Given the description of an element on the screen output the (x, y) to click on. 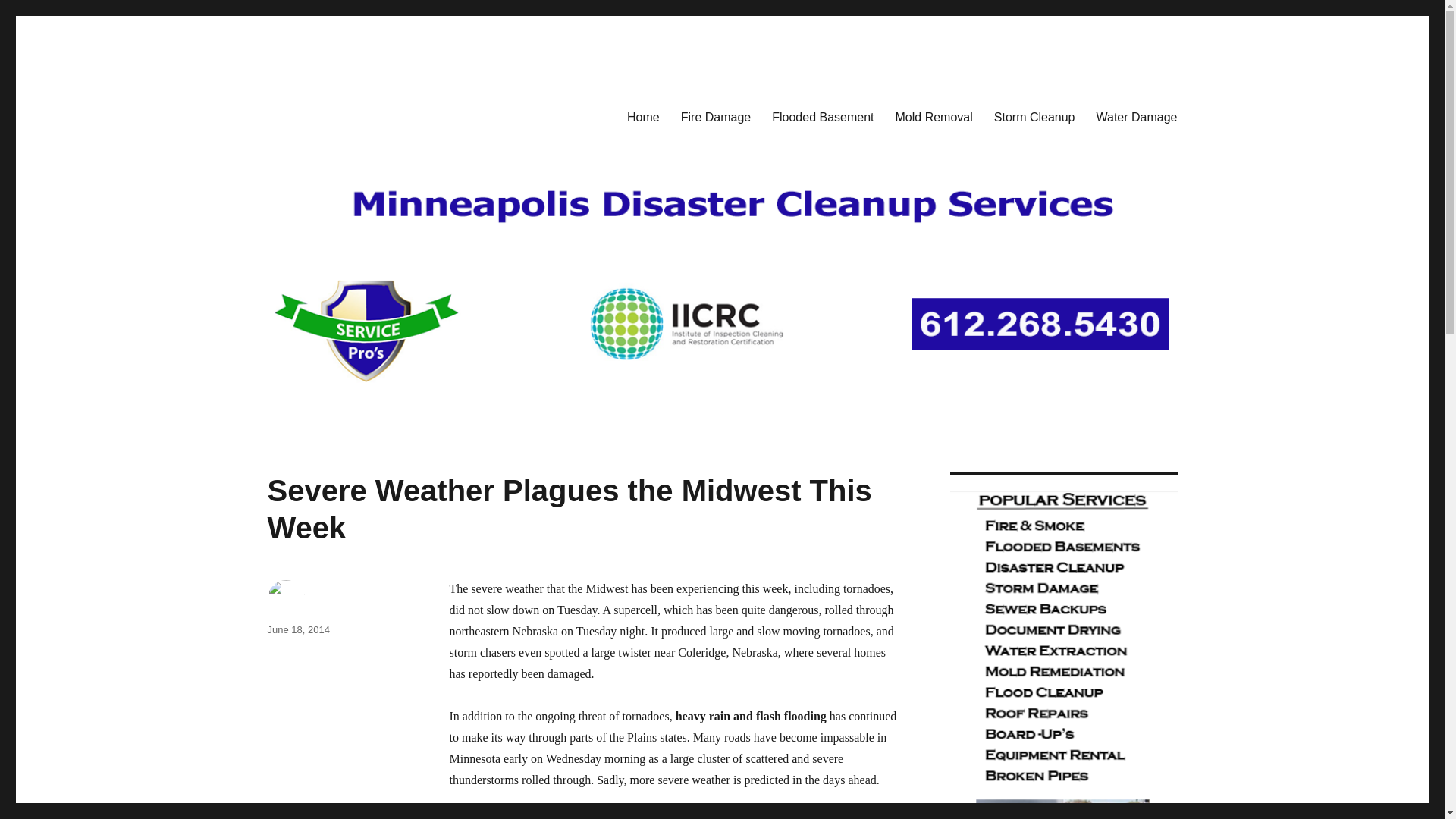
Minnesota Water Restoration Pros (439, 114)
June 18, 2014 (297, 629)
Storm Cleanup (1035, 116)
Fire Damage (715, 116)
Water Damage (1137, 116)
Flooded Basement (822, 116)
Mold Removal (934, 116)
Home (642, 116)
